Given the description of an element on the screen output the (x, y) to click on. 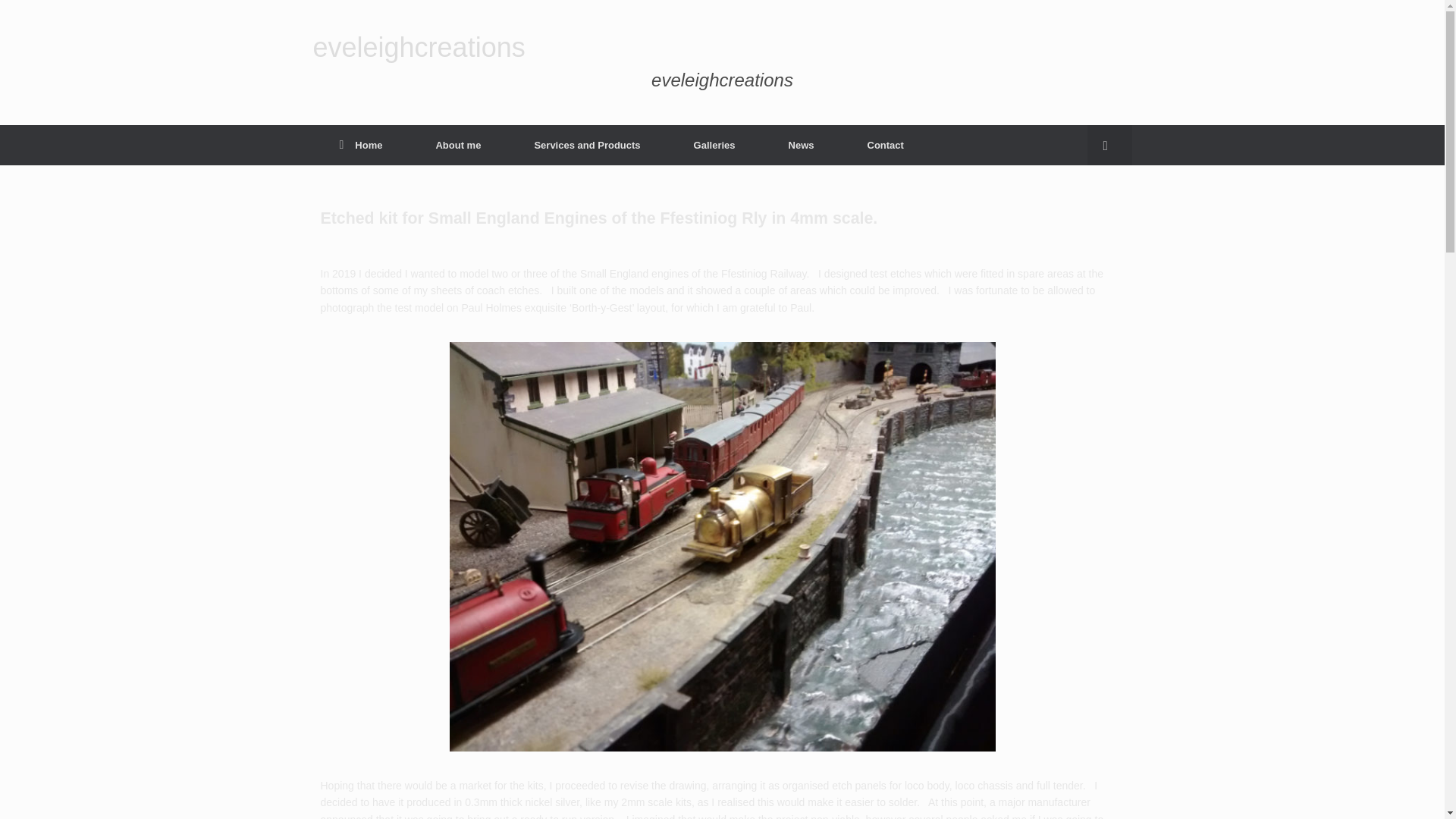
Galleries (713, 145)
eveleighcreations (418, 47)
Services and Products (586, 145)
Contact (885, 145)
About me (457, 145)
News (801, 145)
eveleighcreations (418, 47)
Home (361, 145)
